Given the description of an element on the screen output the (x, y) to click on. 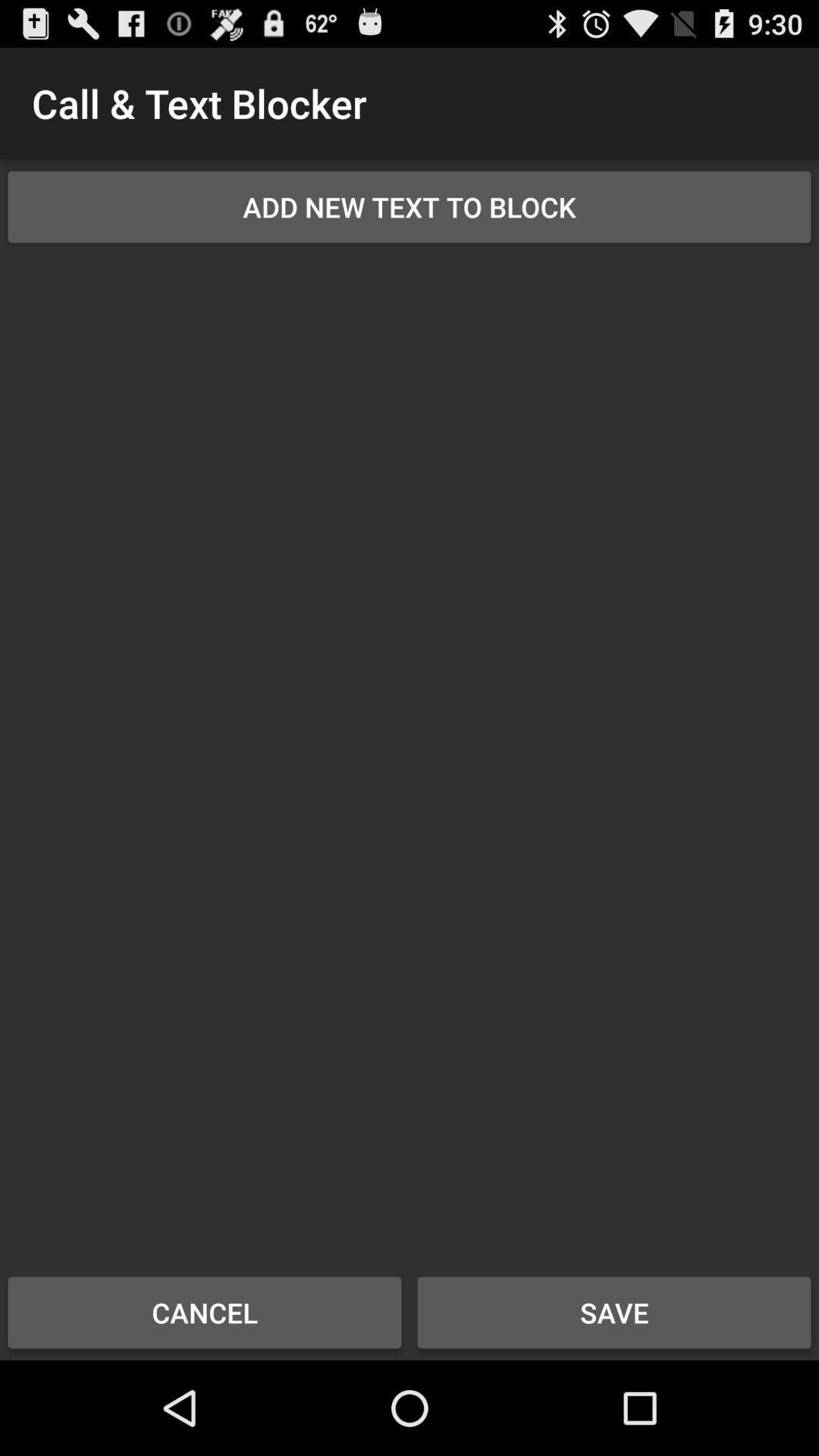
turn on button below the add new text (409, 749)
